Given the description of an element on the screen output the (x, y) to click on. 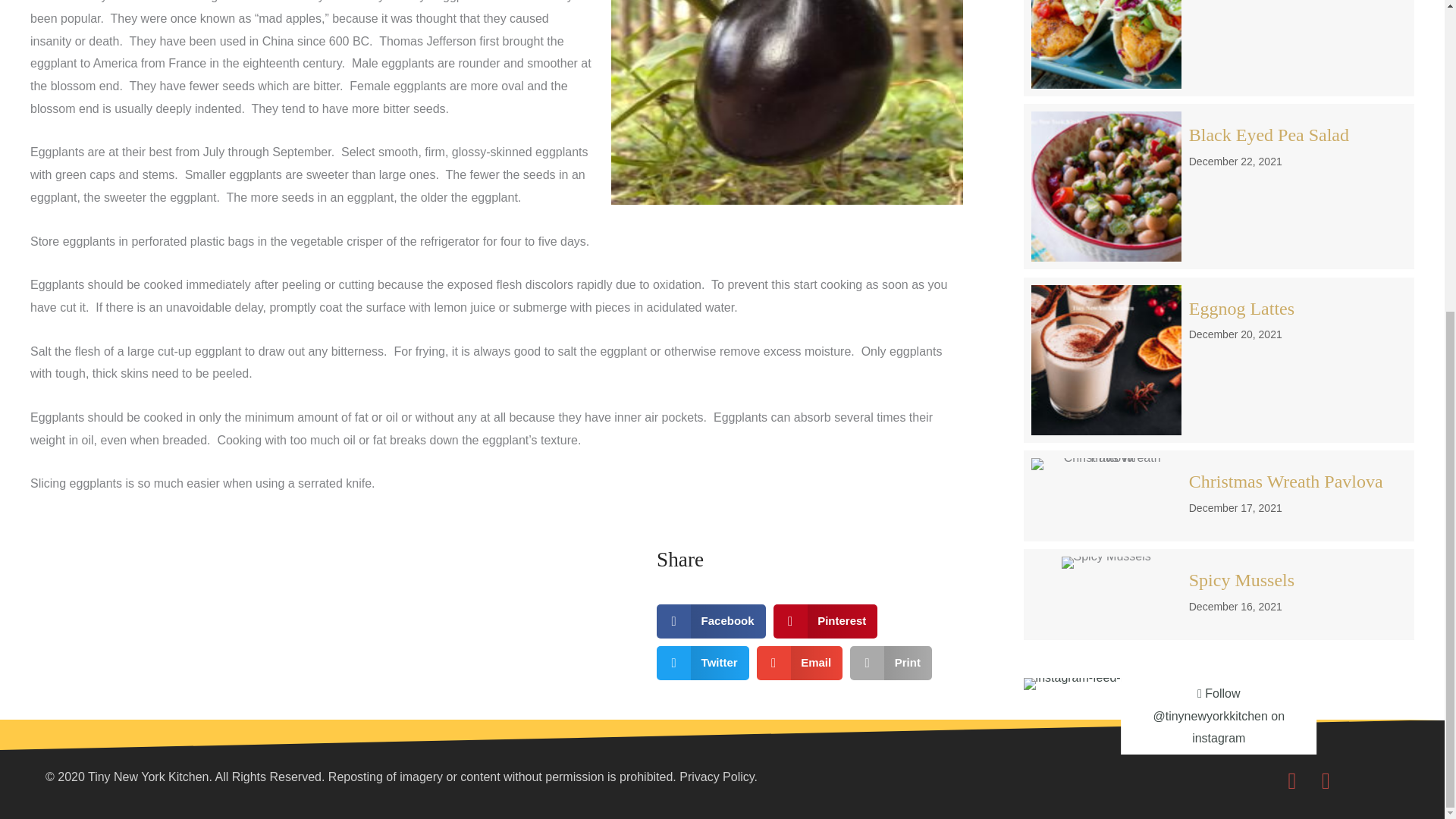
Facebook (710, 621)
Email (800, 663)
Spicy Mussels (1106, 562)
Roasted Cod Tacos (1218, 48)
Christmas Wreath Pavlova (1218, 495)
Print (890, 663)
Spicy Mussels (1218, 593)
Facebook (1291, 780)
Black Eyed Pea Salad (1218, 186)
Black Eyed Pea Salad (1105, 186)
